Given the description of an element on the screen output the (x, y) to click on. 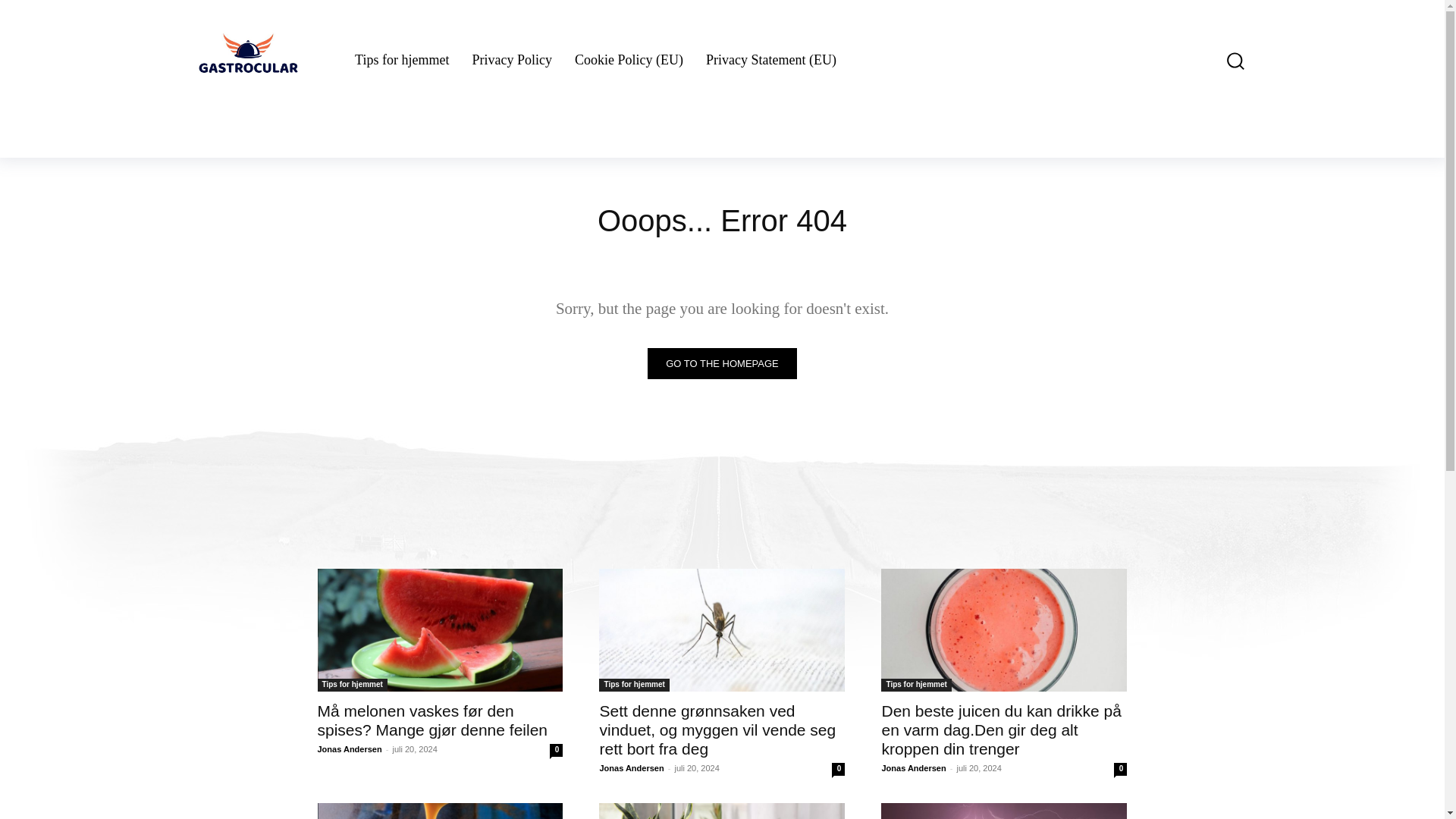
Tips for hjemmet (402, 60)
Privacy Policy (511, 60)
Go to the homepage (721, 363)
0 (556, 749)
Tips for hjemmet (633, 684)
Tips for hjemmet (352, 684)
Jonas Andersen (349, 748)
GO TO THE HOMEPAGE (721, 363)
